Given the description of an element on the screen output the (x, y) to click on. 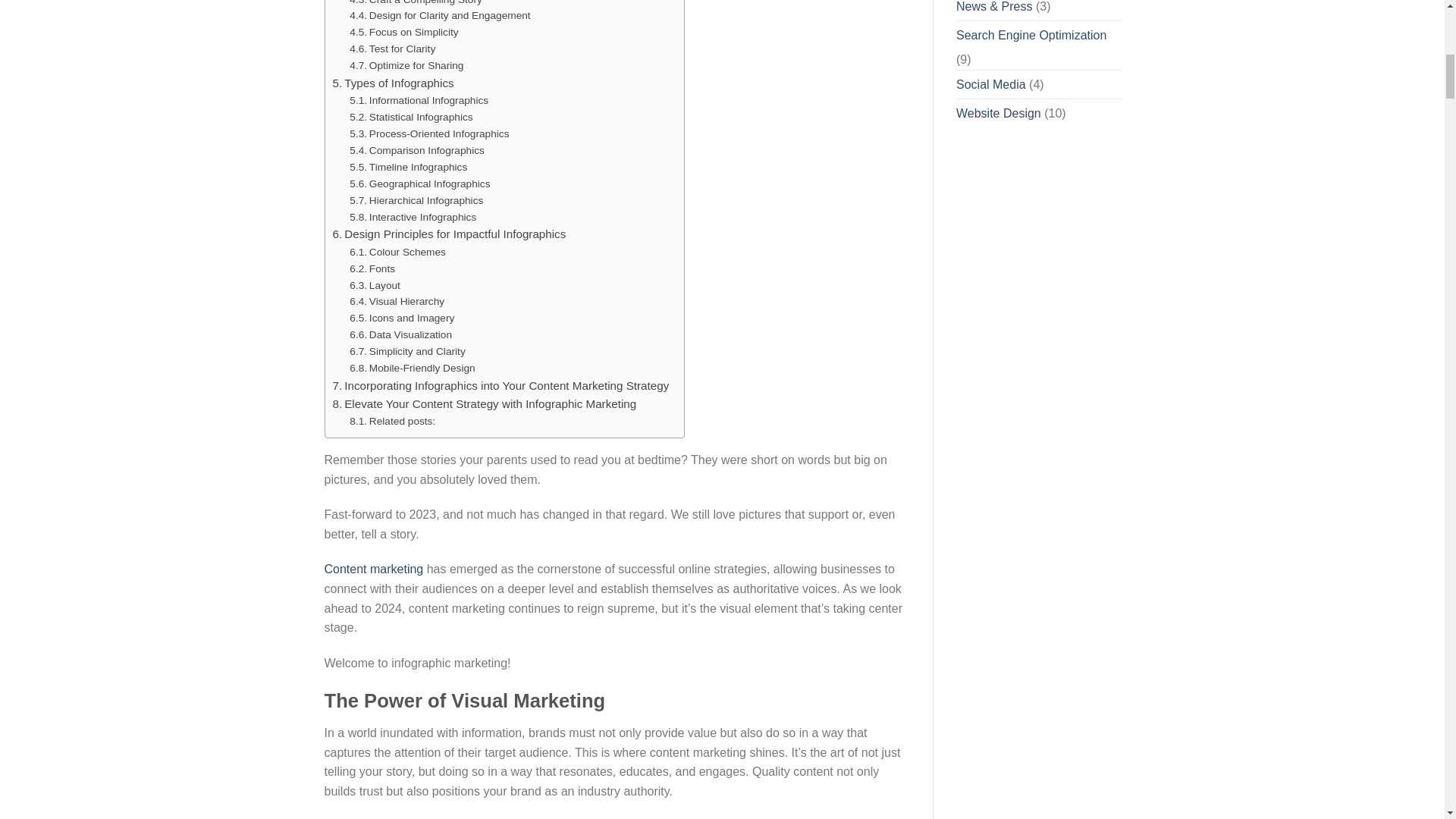
Process-Oriented Infographics (428, 134)
Geographical Infographics (419, 184)
Hierarchical Infographics (416, 200)
Informational Infographics (418, 100)
Design Principles for Impactful Infographics (448, 234)
Craft a Compelling Story (415, 4)
Design for Clarity and Engagement (439, 15)
Design for Clarity and Engagement (439, 15)
Interactive Infographics (412, 217)
Craft a Compelling Story (415, 4)
Focus on Simplicity (403, 32)
Test for Clarity (392, 48)
Comparison Infographics (416, 150)
Optimize for Sharing (406, 65)
Optimize for Sharing (406, 65)
